Given the description of an element on the screen output the (x, y) to click on. 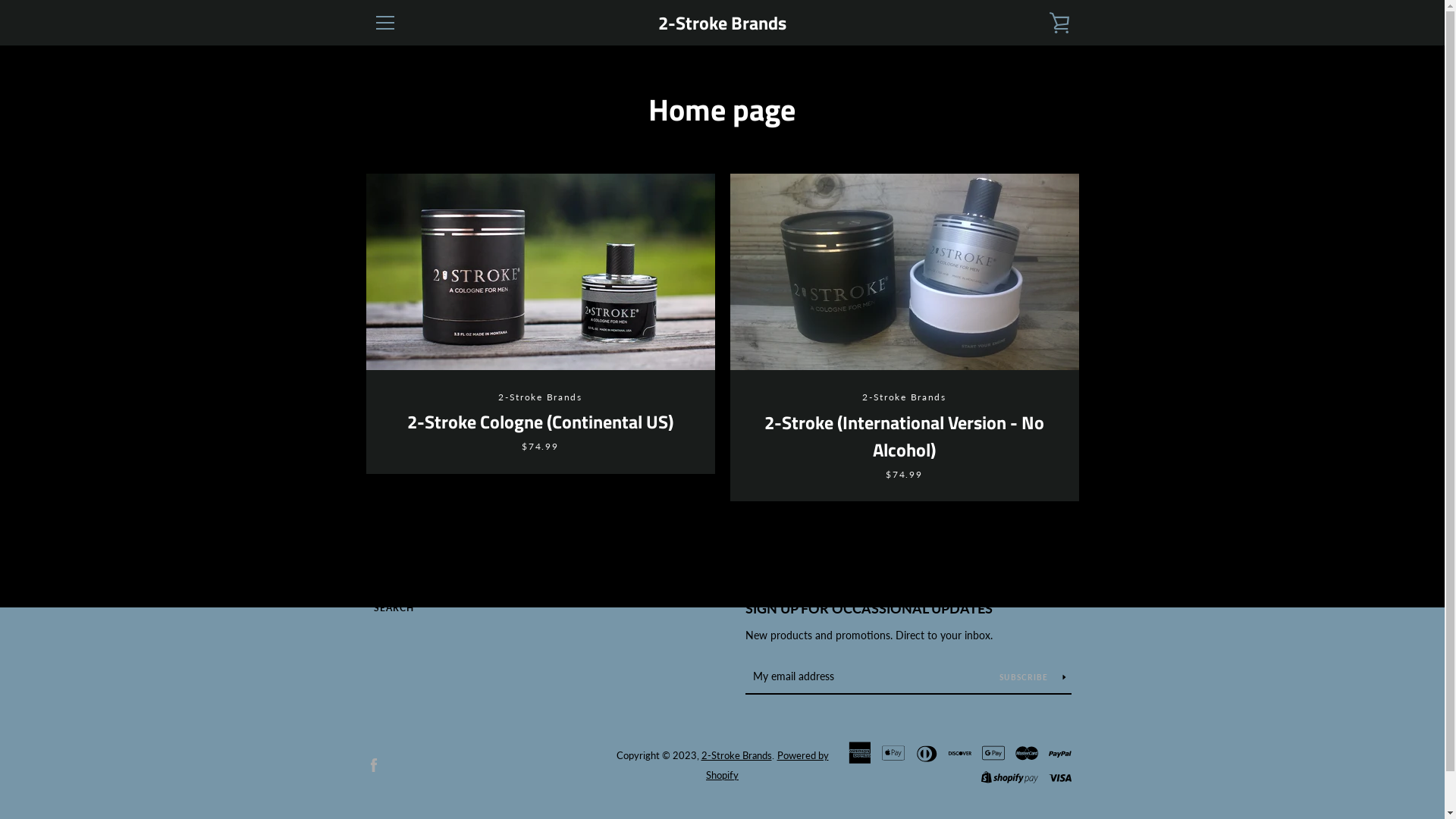
VIEW CART Element type: text (1059, 22)
Powered by Shopify Element type: text (767, 765)
2-Stroke Brands Element type: text (735, 755)
2-Stroke Brands Element type: text (722, 23)
SEARCH Element type: text (393, 607)
Facebook Element type: text (372, 763)
Skip to content Element type: text (0, 0)
SUBSCRIBE Element type: text (1032, 676)
2-Stroke Brands
2-Stroke Cologne (Continental US)
$74.99 Element type: text (539, 323)
EXPAND NAVIGATION Element type: text (384, 22)
